Given the description of an element on the screen output the (x, y) to click on. 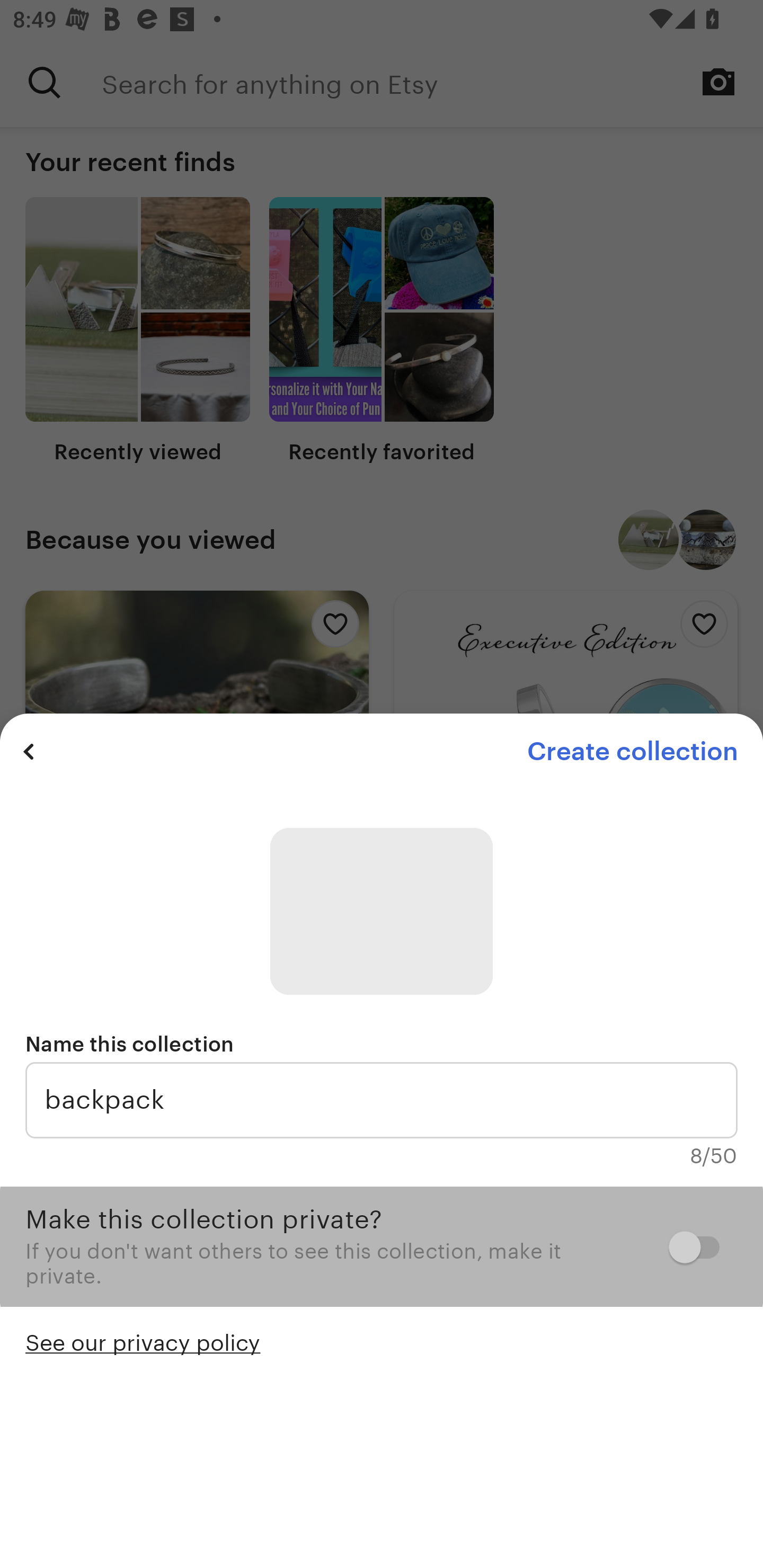
Previous (28, 751)
Create collection (632, 751)
backpack (381, 1099)
See our privacy policy (142, 1341)
